Given the description of an element on the screen output the (x, y) to click on. 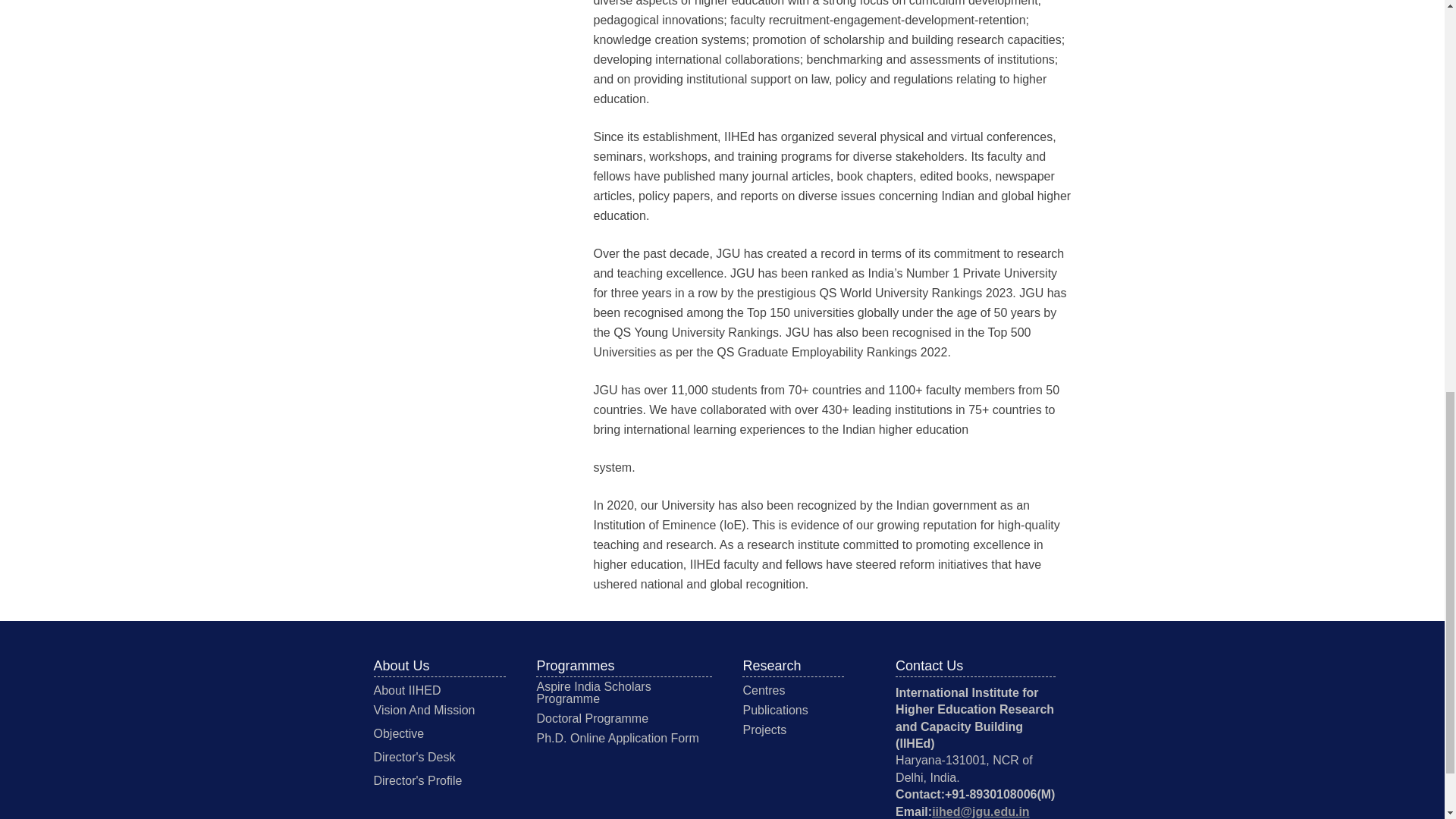
Objective (397, 733)
Director's Desk (413, 757)
Aspire India Scholars Programme (592, 692)
Director's Profile (416, 780)
About IIHED (406, 689)
About Us (400, 665)
Vision And Mission (423, 709)
Programmes (574, 665)
